Given the description of an element on the screen output the (x, y) to click on. 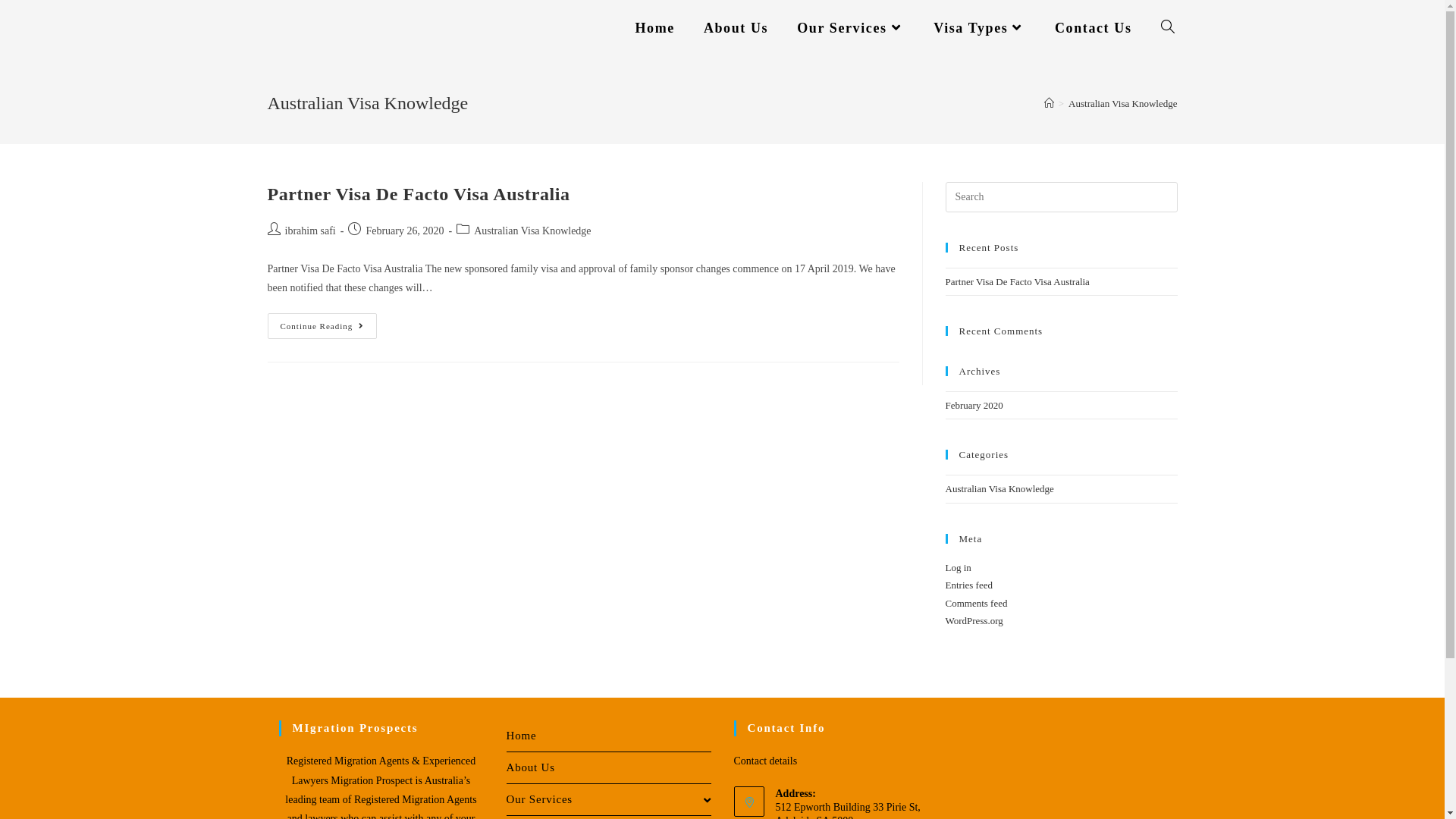
Our Services Element type: text (850, 28)
Home Element type: text (608, 735)
Partner Visa De Facto Visa Australia Element type: text (1016, 281)
Contact Us Element type: text (1093, 28)
ibrahim safi Element type: text (310, 230)
Visa Types Element type: text (979, 28)
February 2020 Element type: text (973, 405)
Entries feed Element type: text (967, 584)
About Us Element type: text (735, 28)
Our Services Element type: text (608, 799)
Continue Reading
Partner Visa De Facto Visa Australia Element type: text (321, 325)
Australian Visa Knowledge Element type: text (1122, 103)
About Us Element type: text (608, 767)
Log in Element type: text (957, 567)
Home Element type: text (655, 28)
Comments feed Element type: text (975, 602)
Australian Visa Knowledge Element type: text (998, 488)
Partner Visa De Facto Visa Australia Element type: text (417, 193)
WordPress.org Element type: text (973, 620)
Australian Visa Knowledge Element type: text (531, 230)
